Given the description of an element on the screen output the (x, y) to click on. 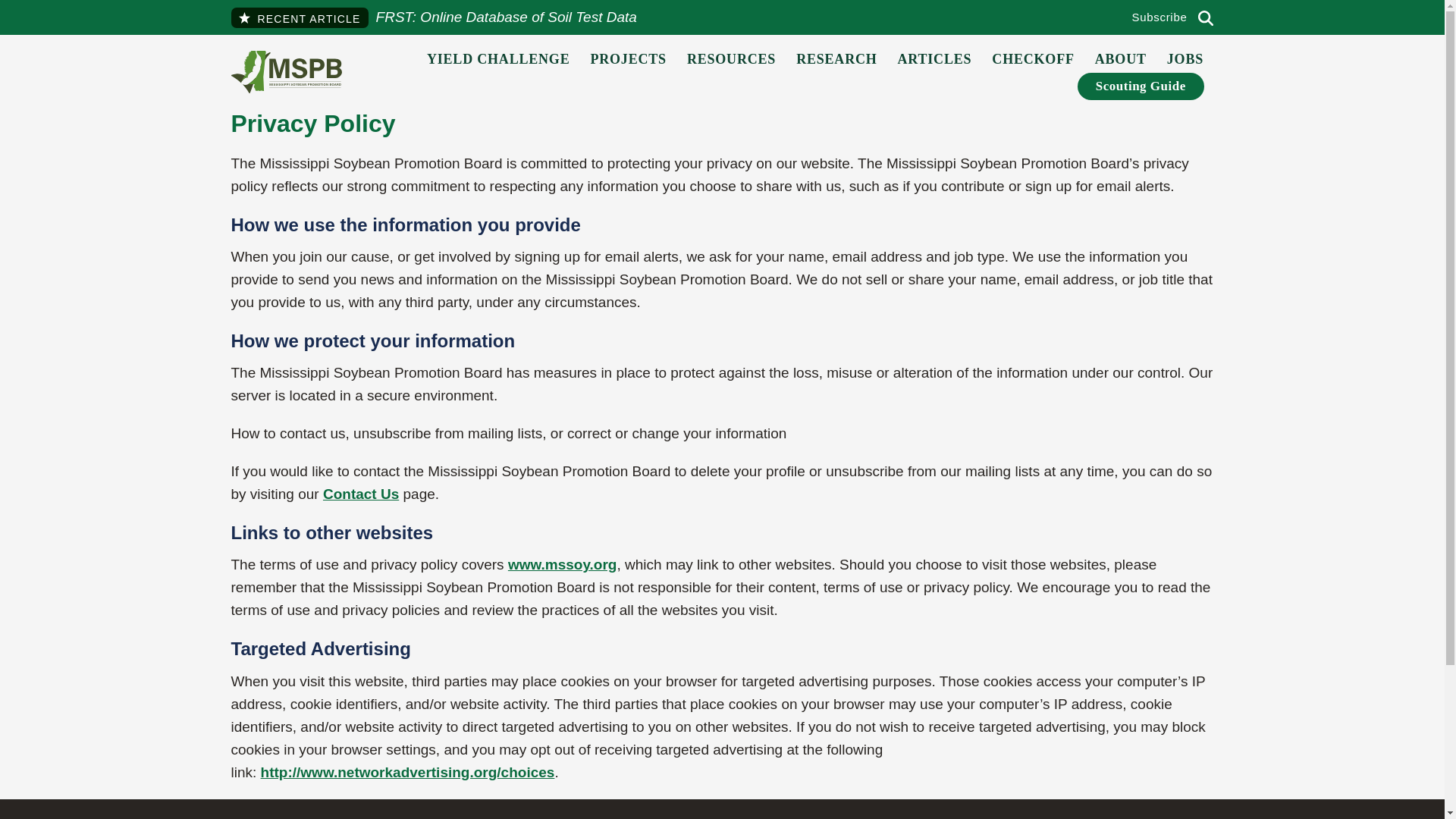
ARTICLES (935, 58)
ABOUT (1120, 58)
Subscribe (1158, 16)
Search (1205, 17)
www.mssoy.org (562, 564)
RESEARCH (836, 58)
RESOURCES (731, 58)
CHECKOFF (1032, 58)
YIELD CHALLENGE (498, 58)
PROJECTS (627, 58)
